Given the description of an element on the screen output the (x, y) to click on. 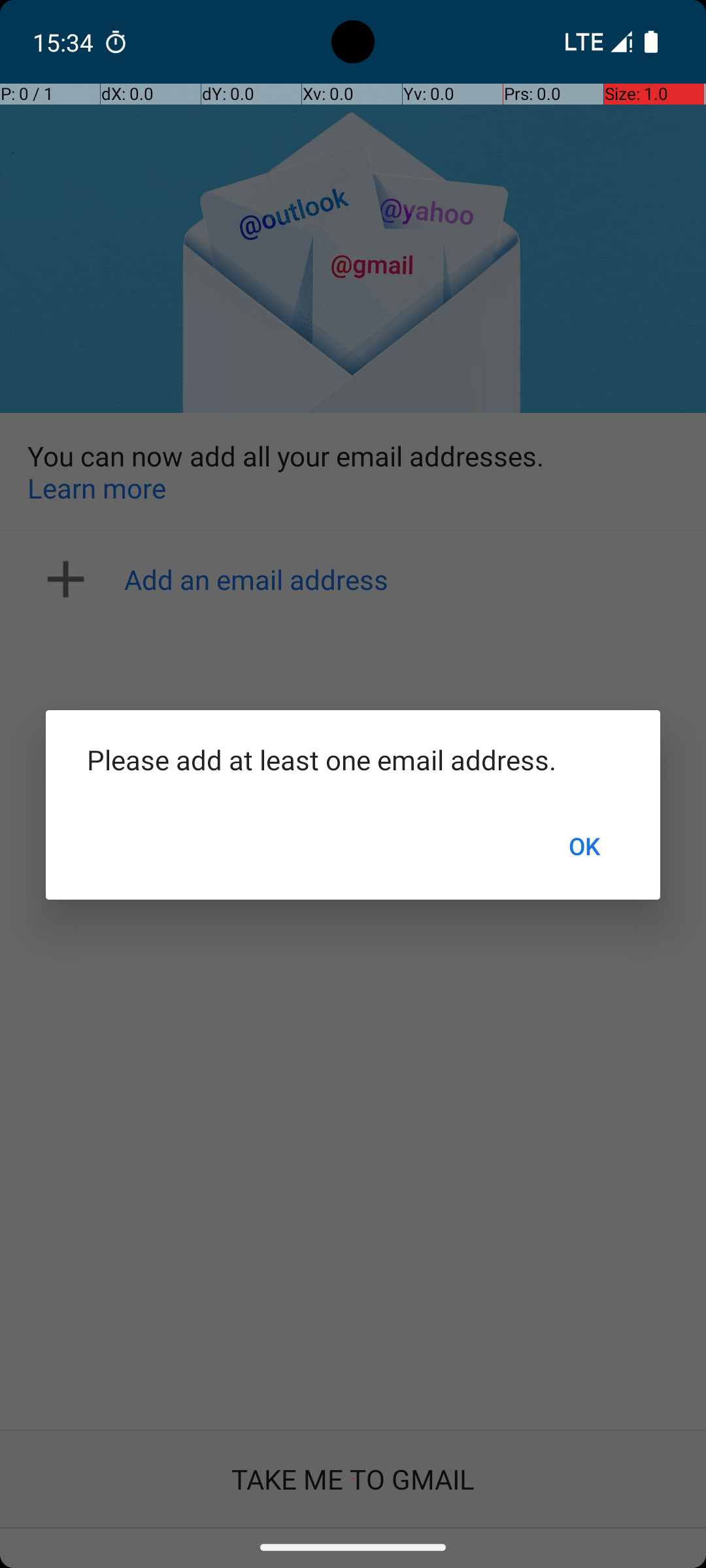
Please add at least one email address. Element type: android.widget.TextView (352, 759)
